Given the description of an element on the screen output the (x, y) to click on. 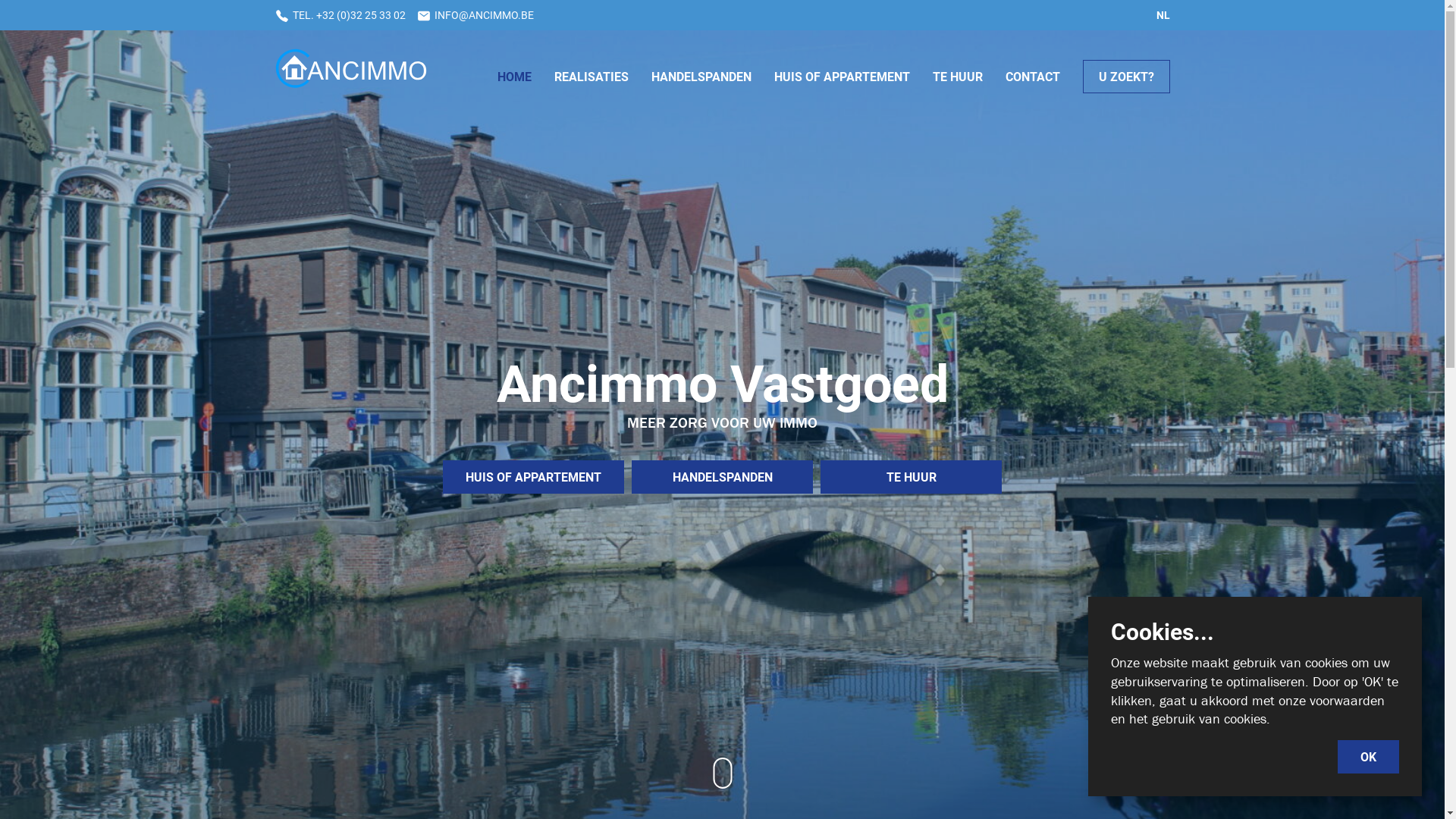
NL Element type: text (1162, 14)
TE HUUR Element type: text (910, 476)
TE HUUR Element type: text (957, 76)
REALISATIES Element type: text (590, 76)
INFO@ANCIMMO.BE Element type: text (475, 14)
OK Element type: text (1368, 756)
TEL. +32 (0)32 25 33 02 Element type: text (339, 14)
HOME Element type: text (514, 76)
HANDELSPANDEN Element type: text (700, 76)
CONTACT Element type: text (1032, 76)
HANDELSPANDEN Element type: text (721, 476)
U ZOEKT? Element type: text (1125, 76)
HUIS OF APPARTEMENT Element type: text (533, 476)
HUIS OF APPARTEMENT Element type: text (841, 76)
